Given the description of an element on the screen output the (x, y) to click on. 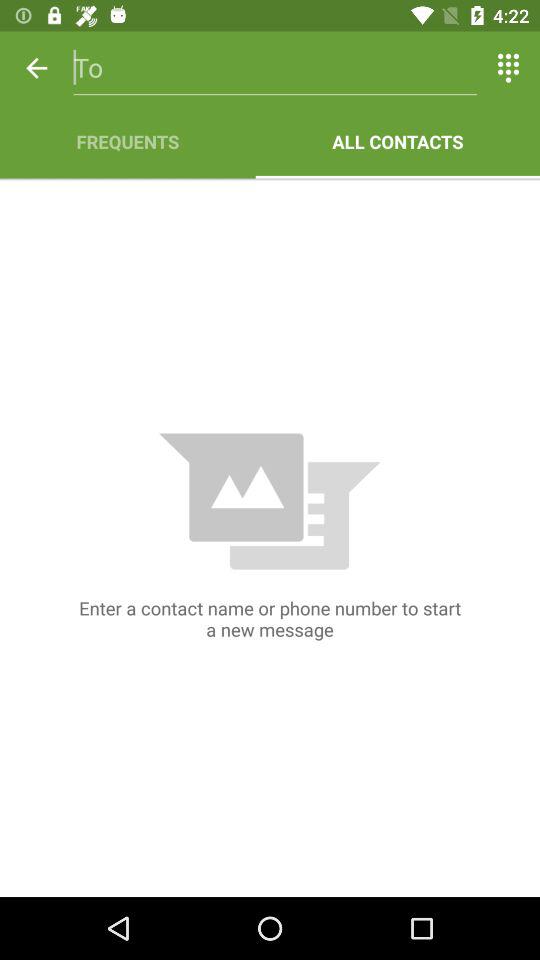
swipe to the frequents item (127, 141)
